Given the description of an element on the screen output the (x, y) to click on. 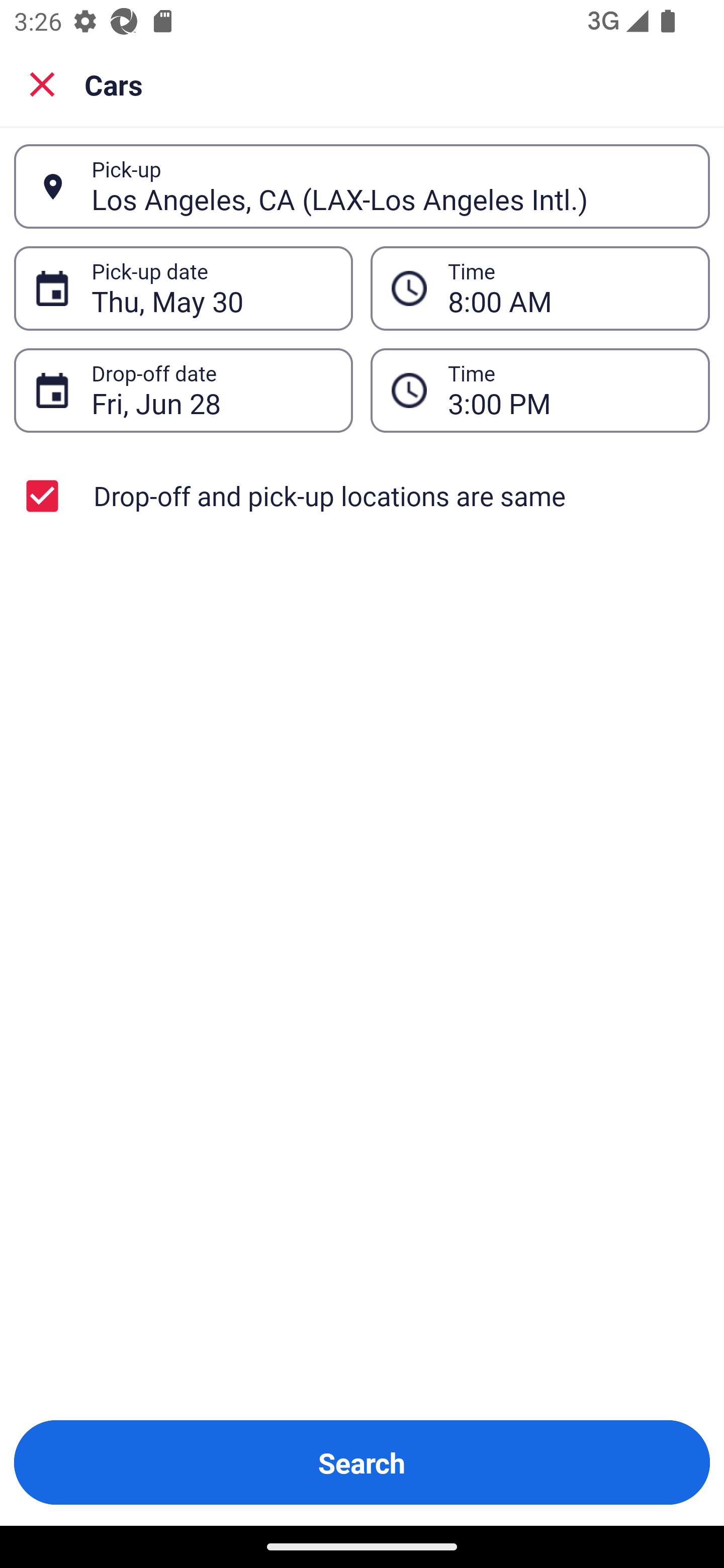
Close search screen (41, 83)
Los Angeles, CA (LAX-Los Angeles Intl.) Pick-up (361, 186)
Los Angeles, CA (LAX-Los Angeles Intl.) (389, 186)
Thu, May 30 Pick-up date (183, 288)
8:00 AM (540, 288)
Thu, May 30 (211, 288)
8:00 AM (568, 288)
Fri, Jun 28 Drop-off date (183, 390)
3:00 PM (540, 390)
Fri, Jun 28 (211, 390)
3:00 PM (568, 390)
Drop-off and pick-up locations are same (361, 495)
Search Button Search (361, 1462)
